Given the description of an element on the screen output the (x, y) to click on. 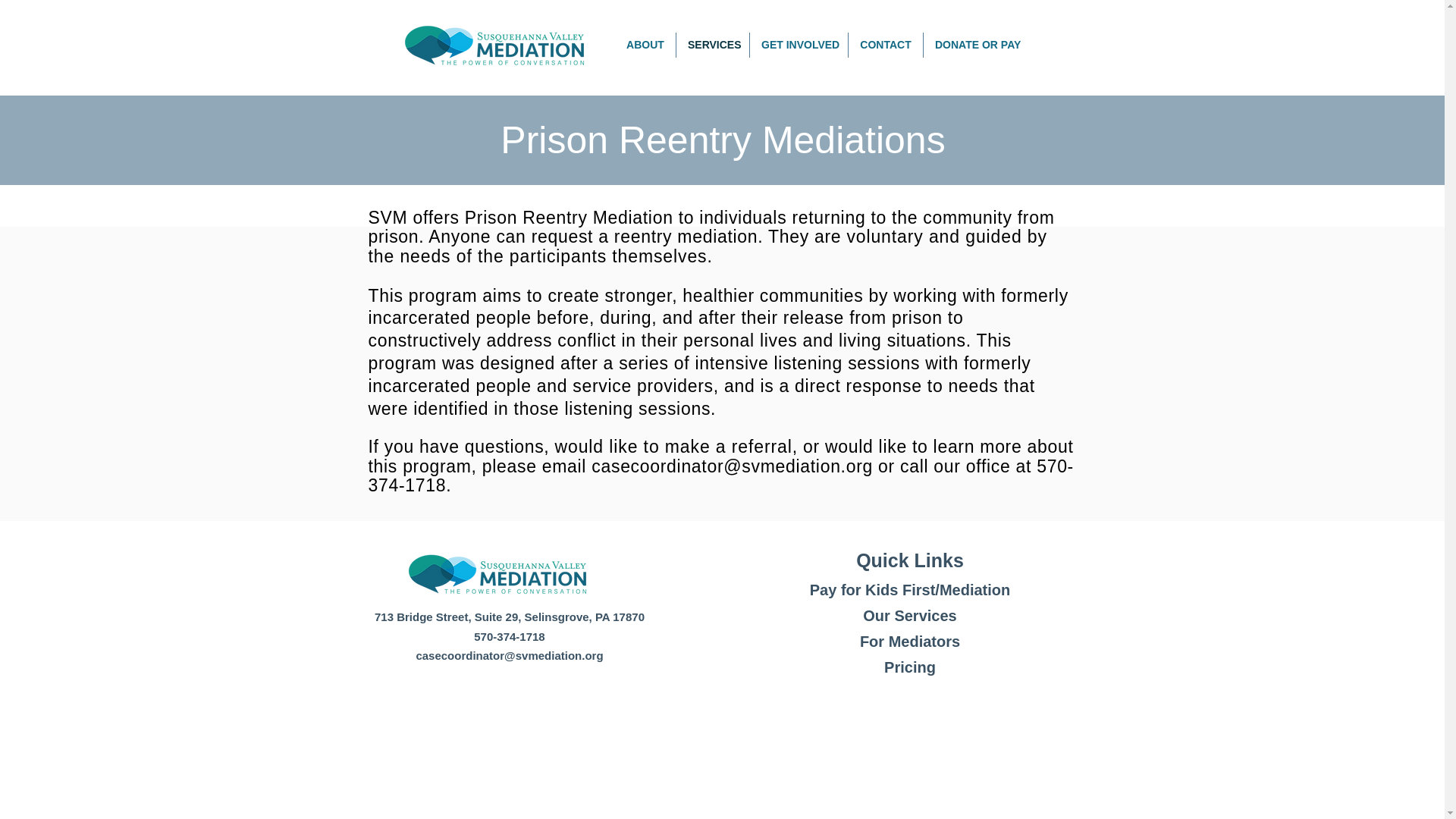
GET INVOLVED (798, 44)
SERVICES (713, 44)
DONATE OR PAY (975, 44)
713 Bridge Street, Suite 29, Selinsgrove, PA 17870 (509, 616)
570-374-1718 (509, 635)
Our Services (909, 615)
ABOUT (644, 44)
CONTACT (885, 44)
For Mediators (909, 641)
Pricing (909, 667)
